Given the description of an element on the screen output the (x, y) to click on. 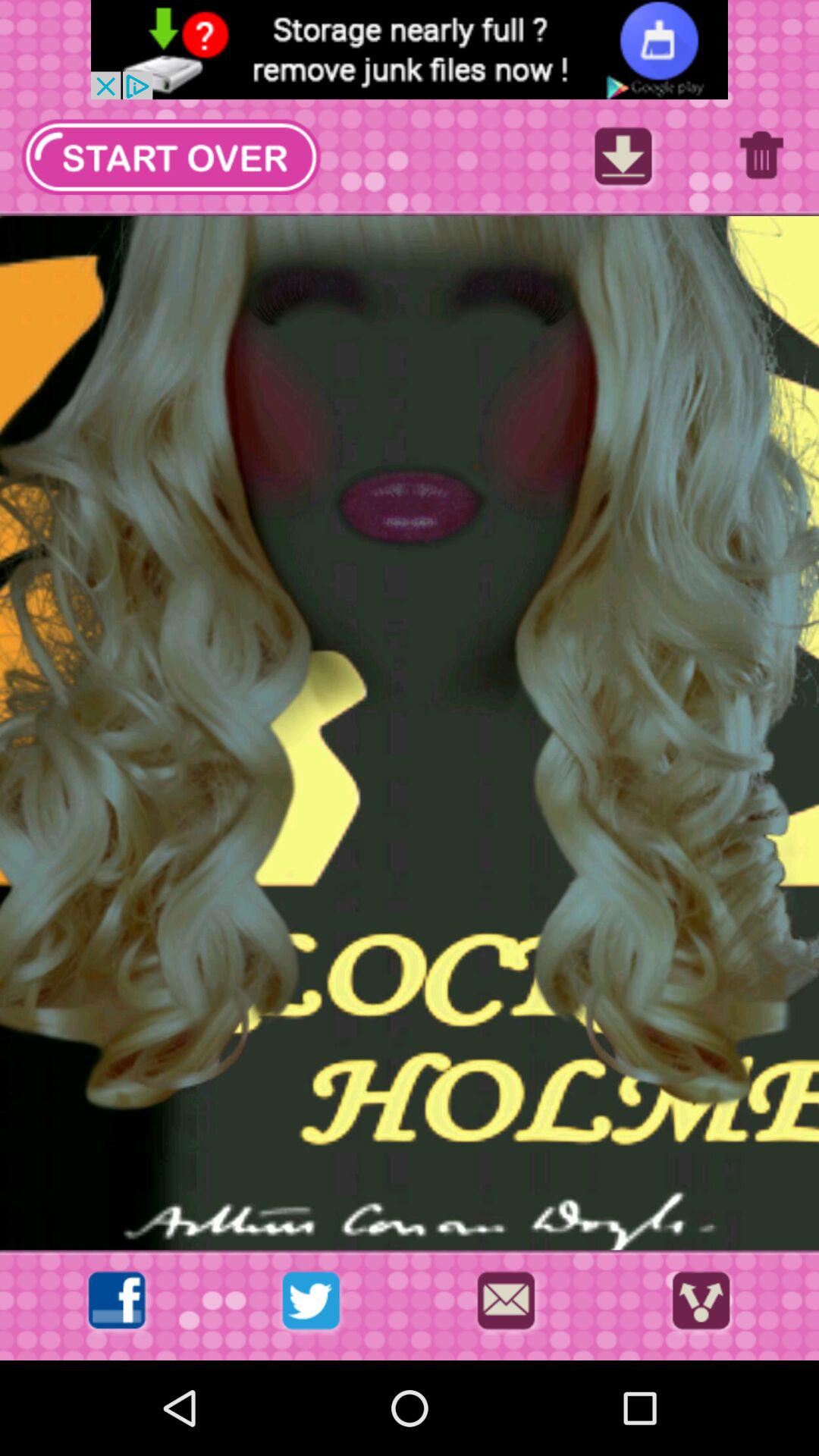
share to facebook (116, 1305)
